Given the description of an element on the screen output the (x, y) to click on. 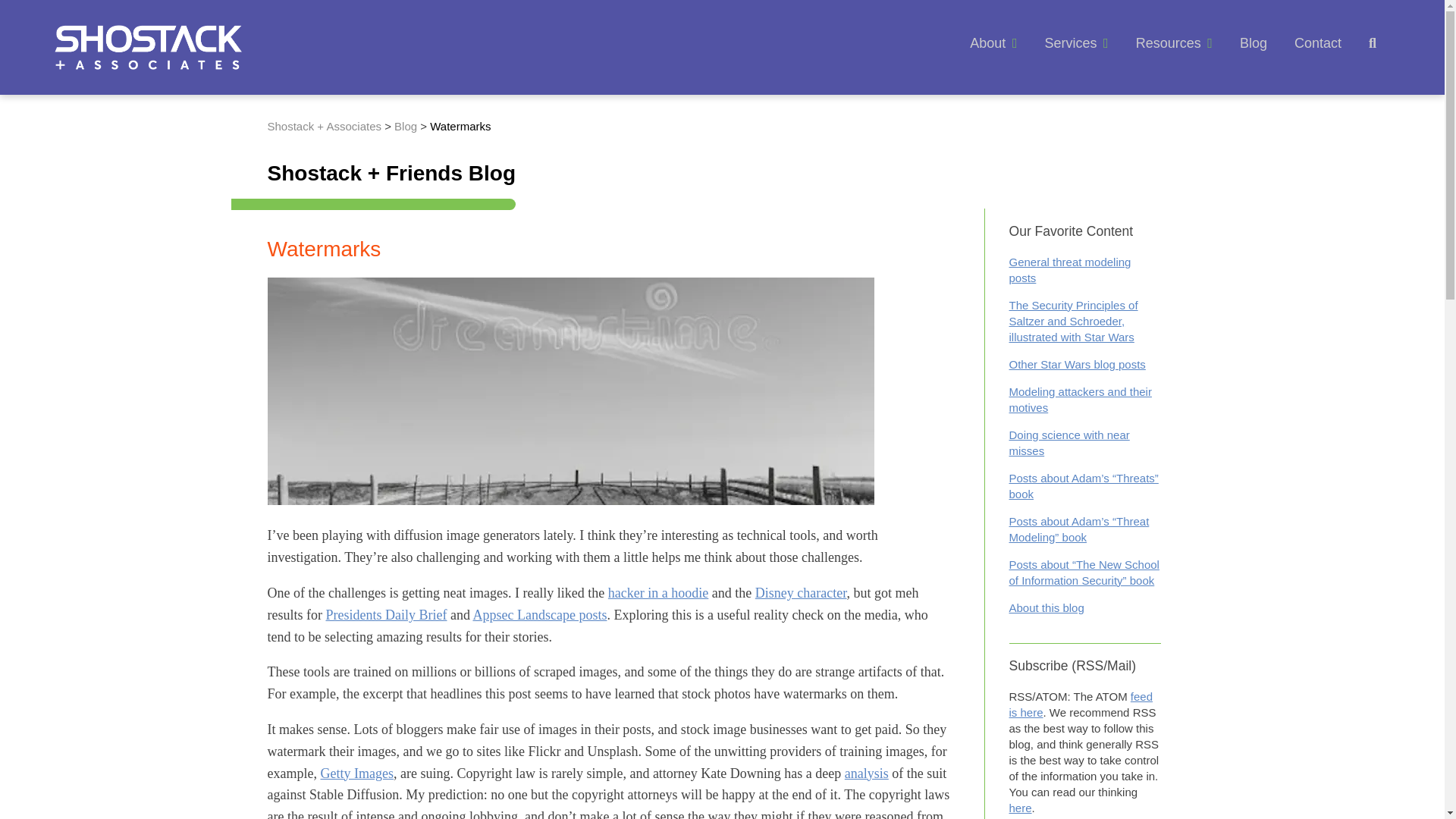
Presidents Daily Brief (385, 614)
Appsec Landscape posts (539, 614)
Services (1069, 43)
Resources (1168, 43)
Blog (1253, 43)
Contact (1317, 43)
Getty Images (356, 773)
hacker in a hoodie (657, 592)
Watermarks (459, 125)
Disney character (801, 592)
analysis (866, 773)
About (987, 43)
Blog (407, 125)
